Given the description of an element on the screen output the (x, y) to click on. 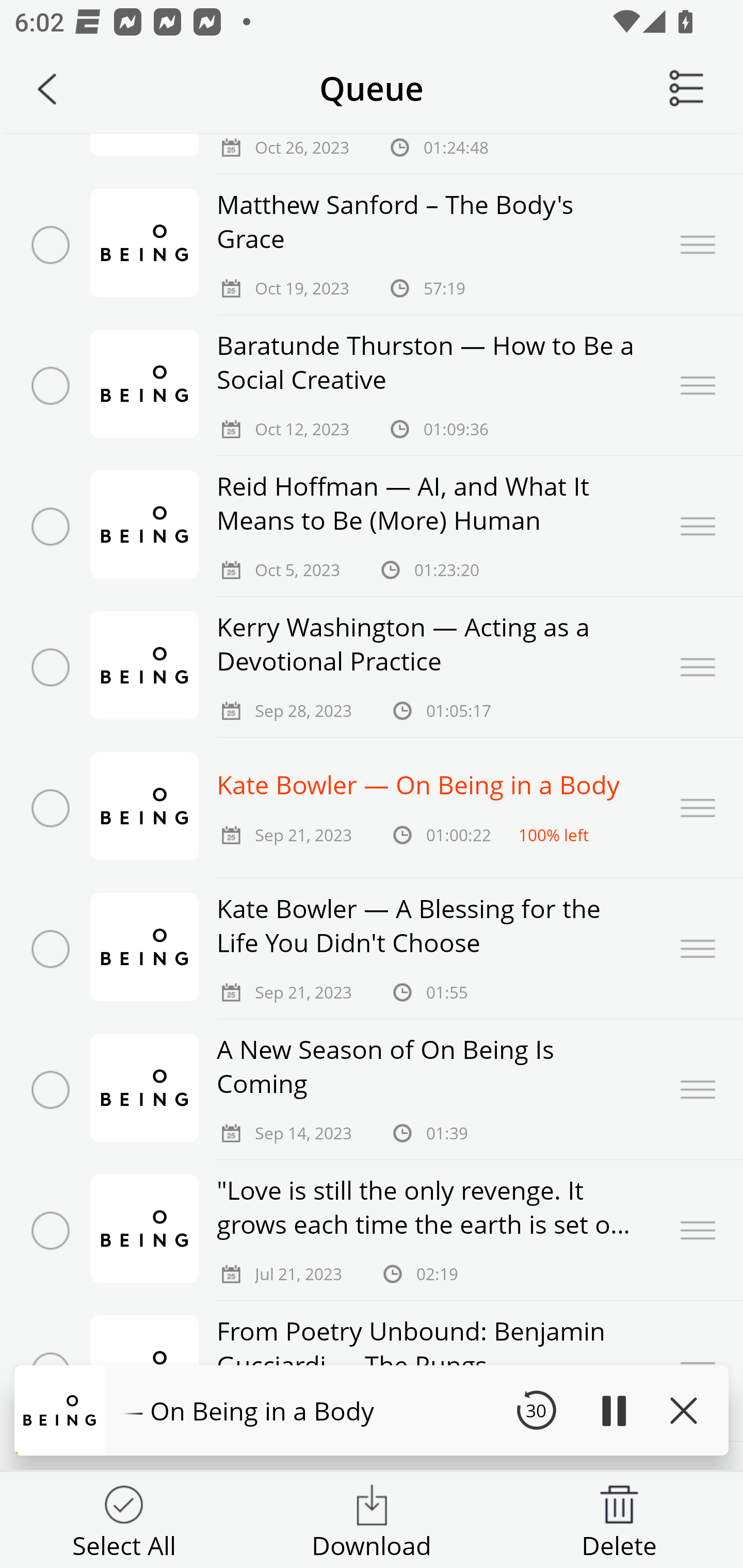
Back (46, 88)
Play (613, 1410)
30 Seek Backward (536, 1410)
Select All (123, 1515)
Download (371, 1515)
Delete (619, 1515)
